Given the description of an element on the screen output the (x, y) to click on. 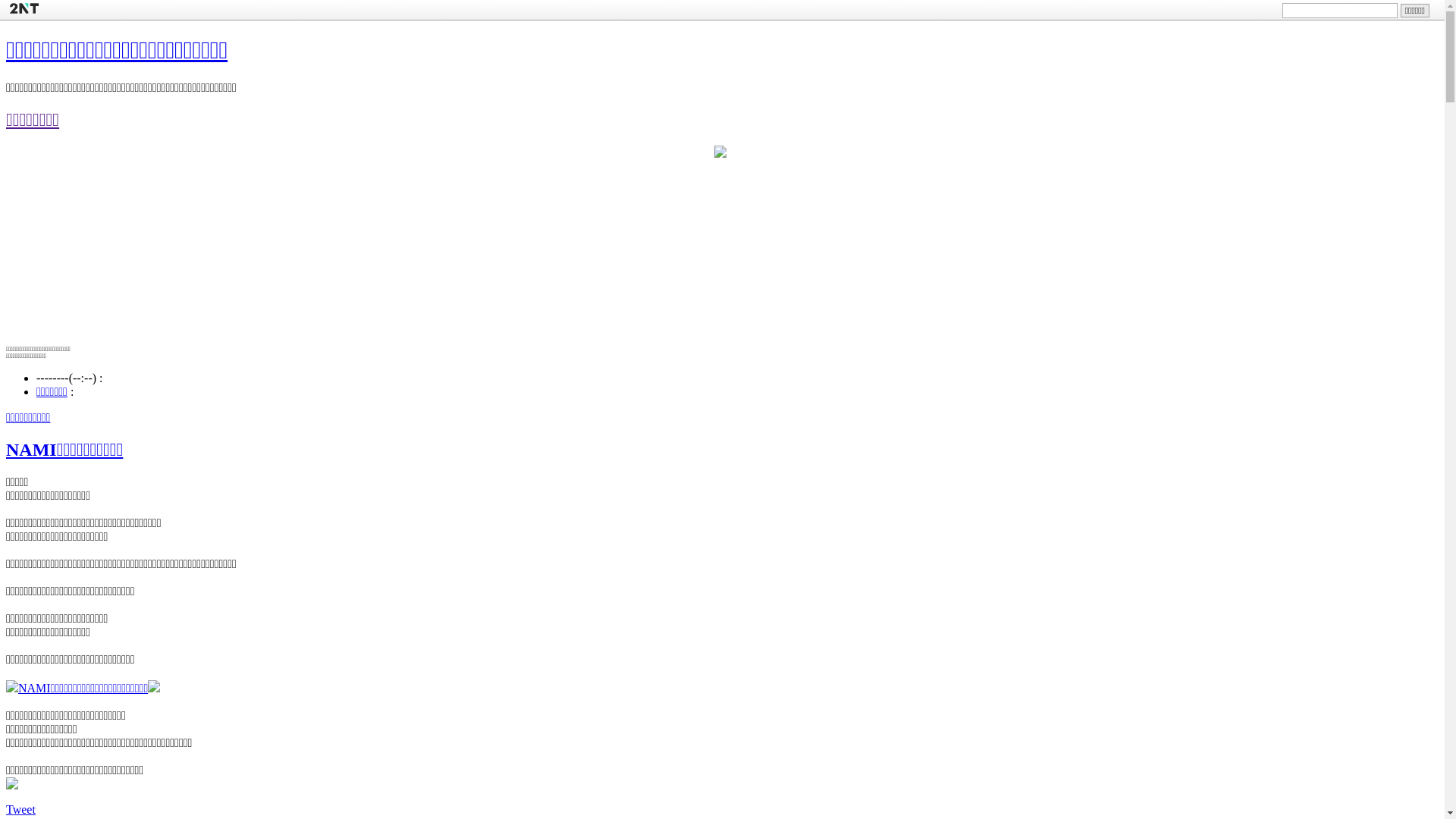
Tweet Element type: text (20, 808)
